Given the description of an element on the screen output the (x, y) to click on. 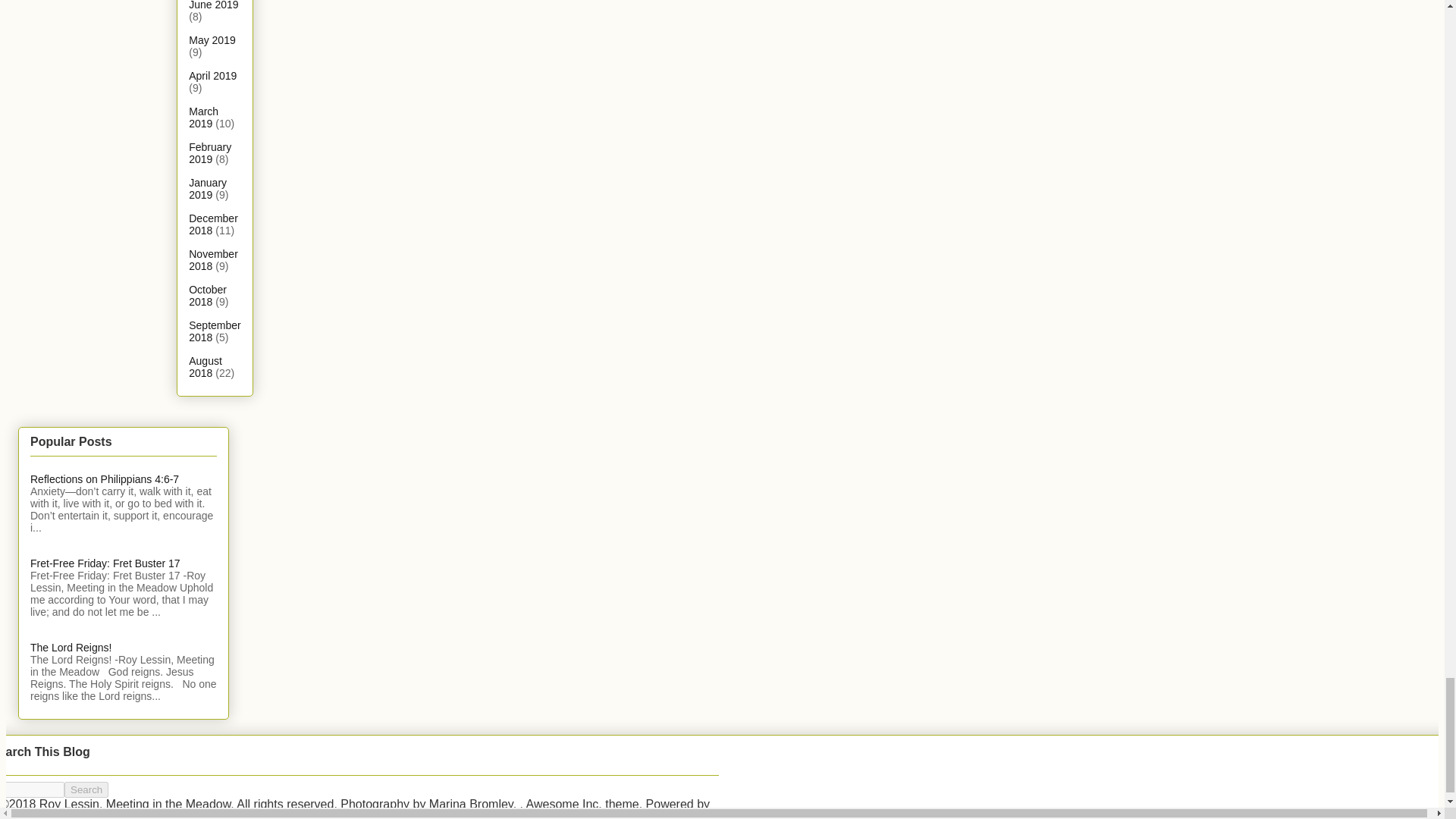
Search (85, 789)
search (32, 789)
search (85, 789)
Search (85, 789)
